Given the description of an element on the screen output the (x, y) to click on. 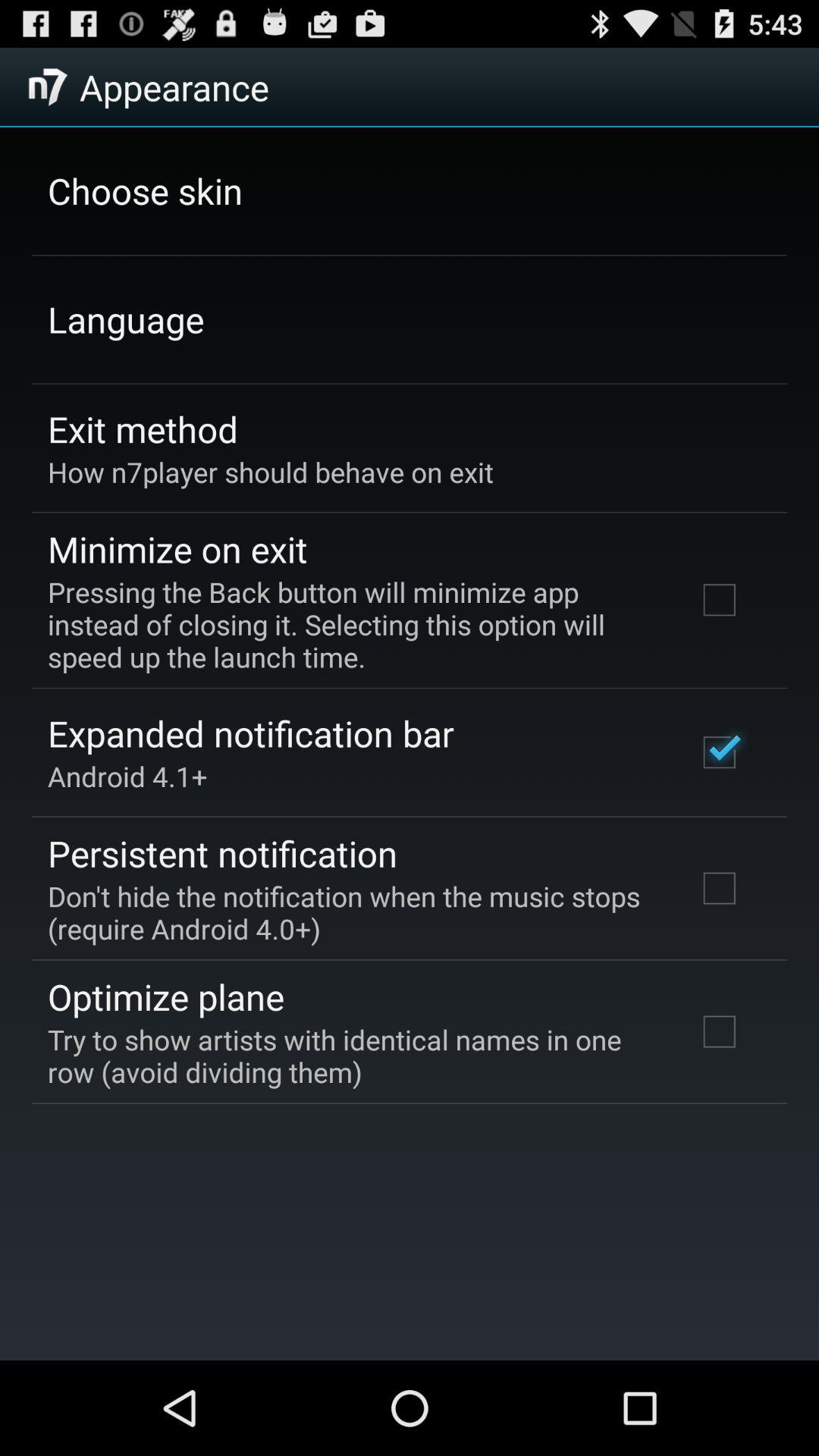
choose app below the optimize plane icon (351, 1055)
